Given the description of an element on the screen output the (x, y) to click on. 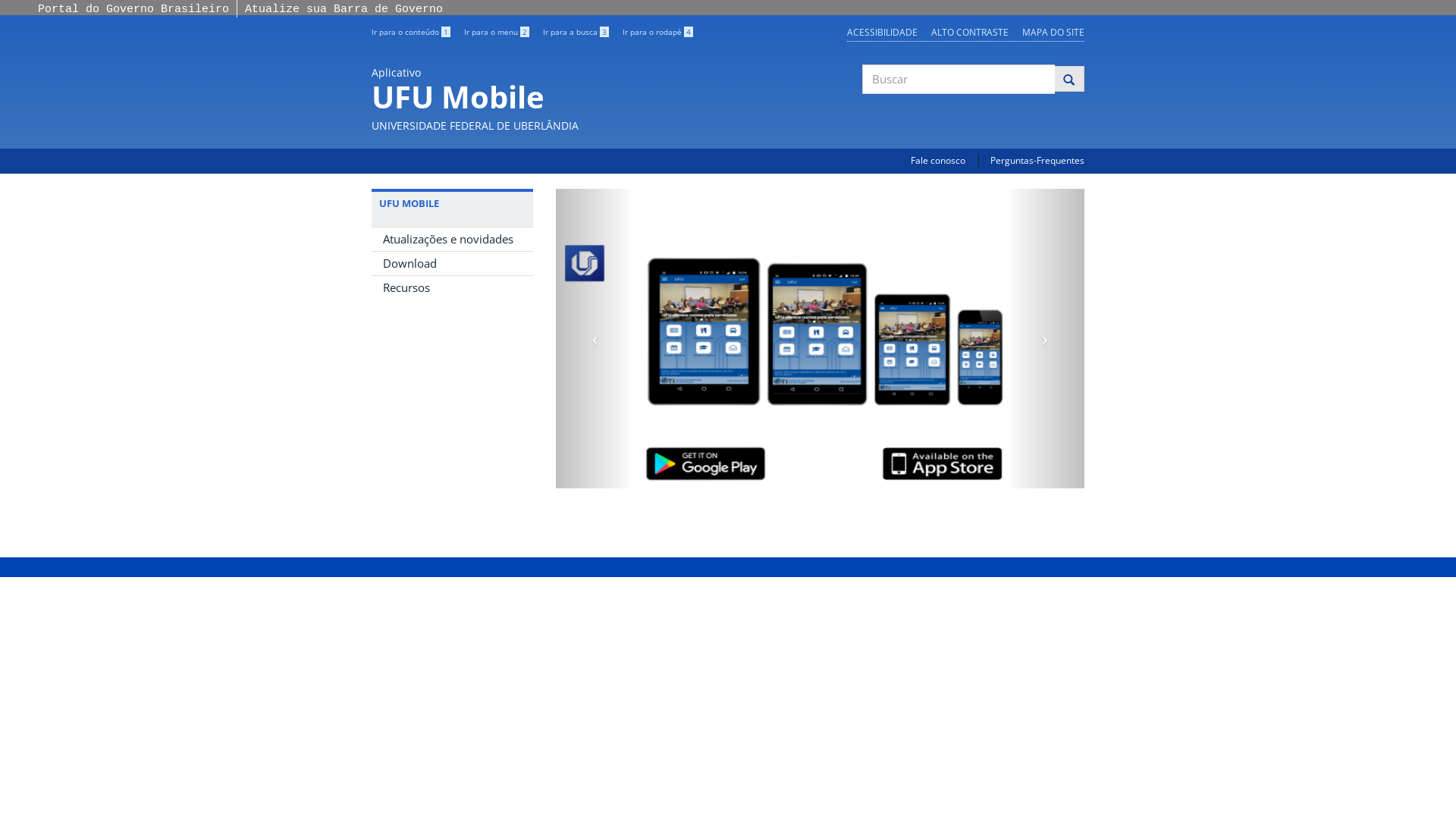
Previous Element type: text (594, 338)
Download Element type: text (452, 263)
Fale conosco Element type: text (937, 159)
Ir para a busca 3 Element type: text (575, 31)
Next Element type: text (1044, 338)
Recursos Element type: text (452, 287)
ALTO CONTRASTE Element type: text (969, 31)
Ir para o menu 2 Element type: text (496, 31)
ACESSIBILIDADE Element type: text (882, 31)
MAPA DO SITE Element type: text (1053, 31)
Atualize sua Barra de Governo Element type: text (343, 9)
Perguntas-Frequentes Element type: text (1037, 159)
Portal do Governo Brasileiro Element type: text (133, 9)
Buscar Element type: text (862, 106)
